Given the description of an element on the screen output the (x, y) to click on. 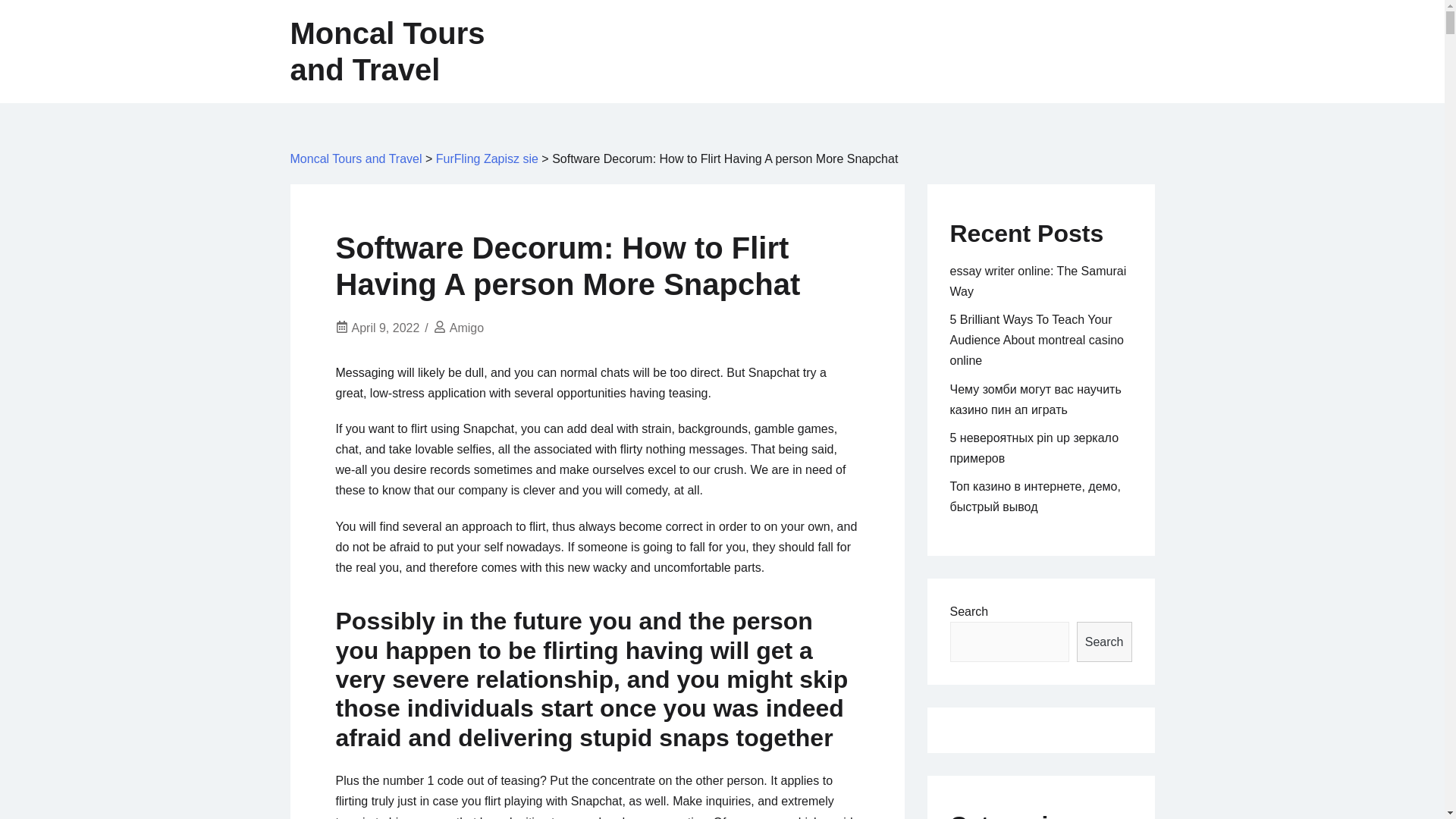
Go to the FurFling Zapisz sie Category archives. (486, 158)
Moncal Tours and Travel (355, 158)
Amigo (466, 327)
Moncal Tours and Travel (386, 51)
essay writer online: The Samurai Way (1037, 281)
April 9, 2022 (386, 327)
Search (1104, 641)
Go to Moncal Tours and Travel. (355, 158)
FurFling Zapisz sie (486, 158)
